Given the description of an element on the screen output the (x, y) to click on. 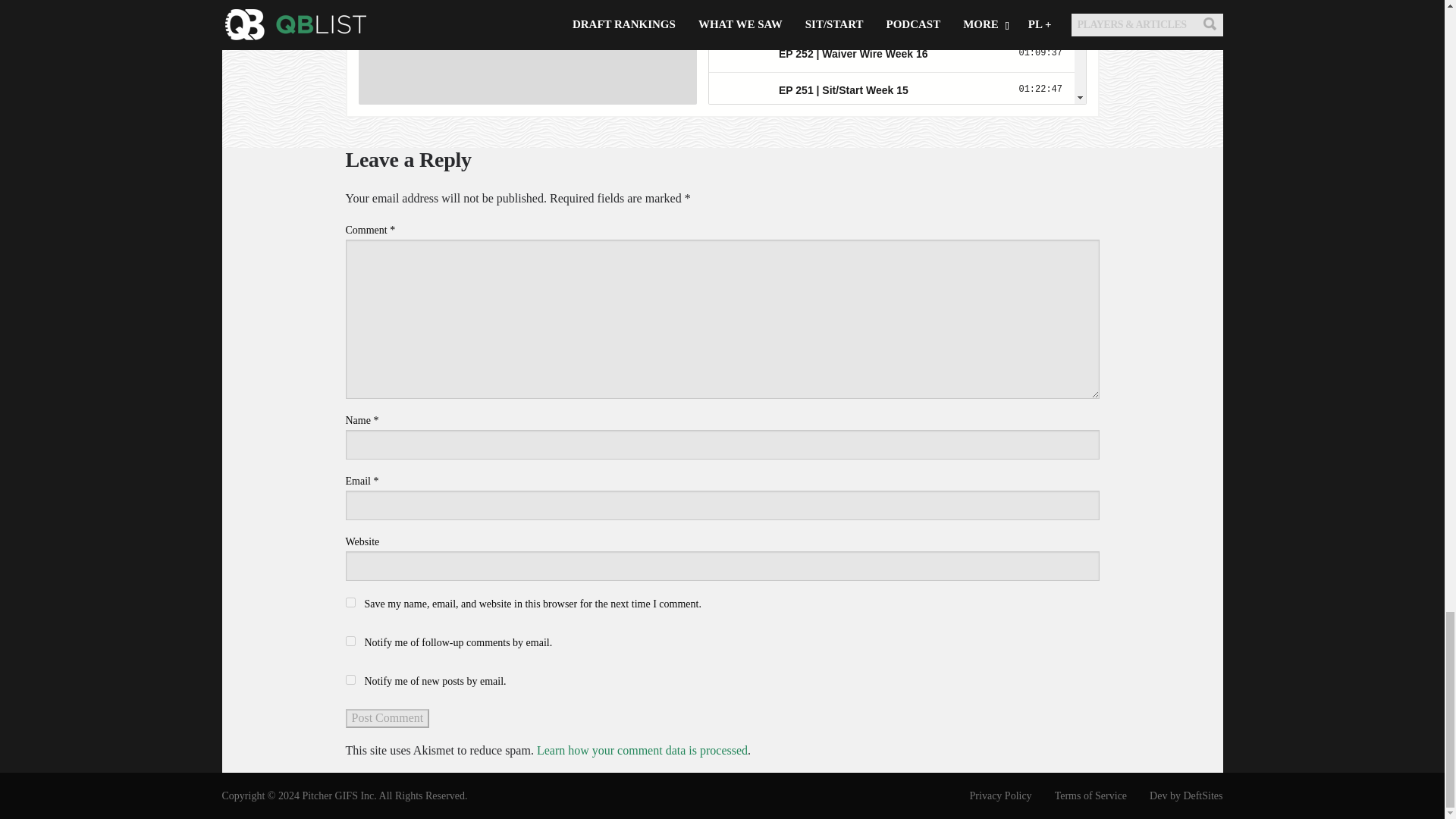
subscribe (350, 641)
subscribe (350, 679)
yes (350, 602)
Post Comment (387, 718)
